Given the description of an element on the screen output the (x, y) to click on. 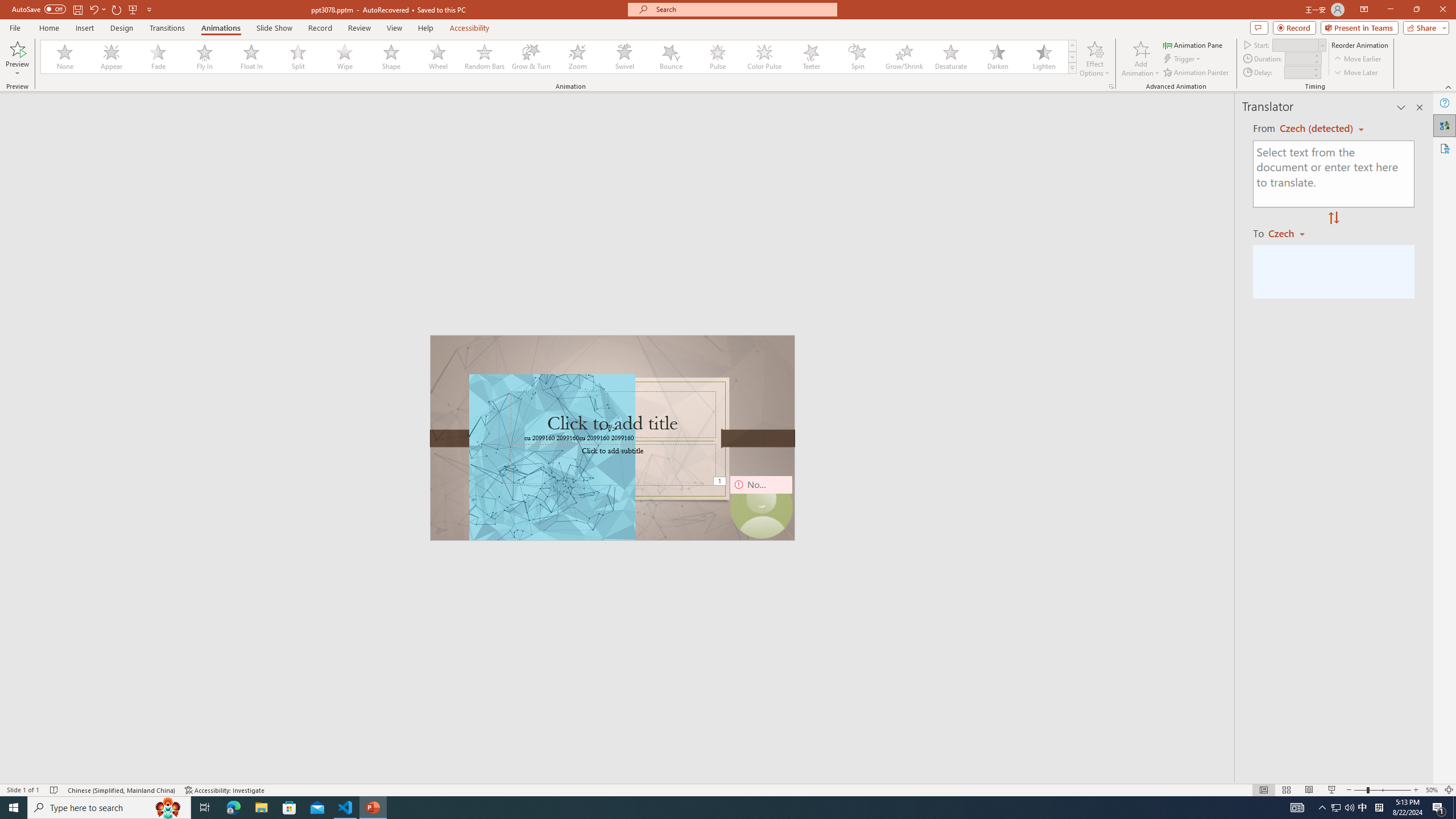
Animation Duration (1298, 58)
Close pane (1419, 107)
An abstract genetic concept (612, 437)
Animation Pane (1193, 44)
Czech (detected) (1317, 128)
Subtitle TextBox (613, 464)
None (65, 56)
Darken (997, 56)
TextBox 61 (611, 438)
Grow/Shrink (903, 56)
